Given the description of an element on the screen output the (x, y) to click on. 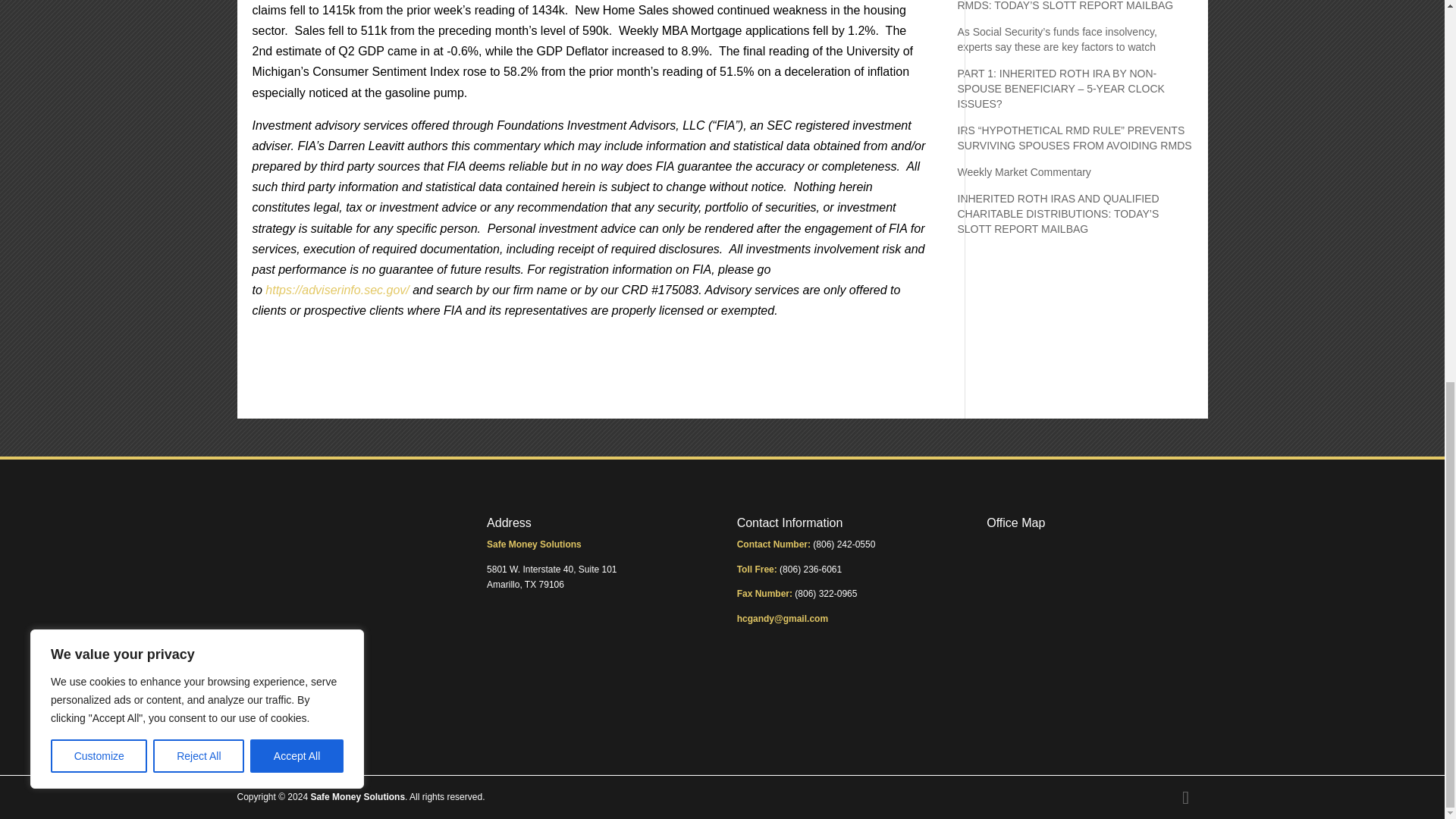
Reject All (198, 41)
Accept All (296, 41)
Customize (98, 41)
